Given the description of an element on the screen output the (x, y) to click on. 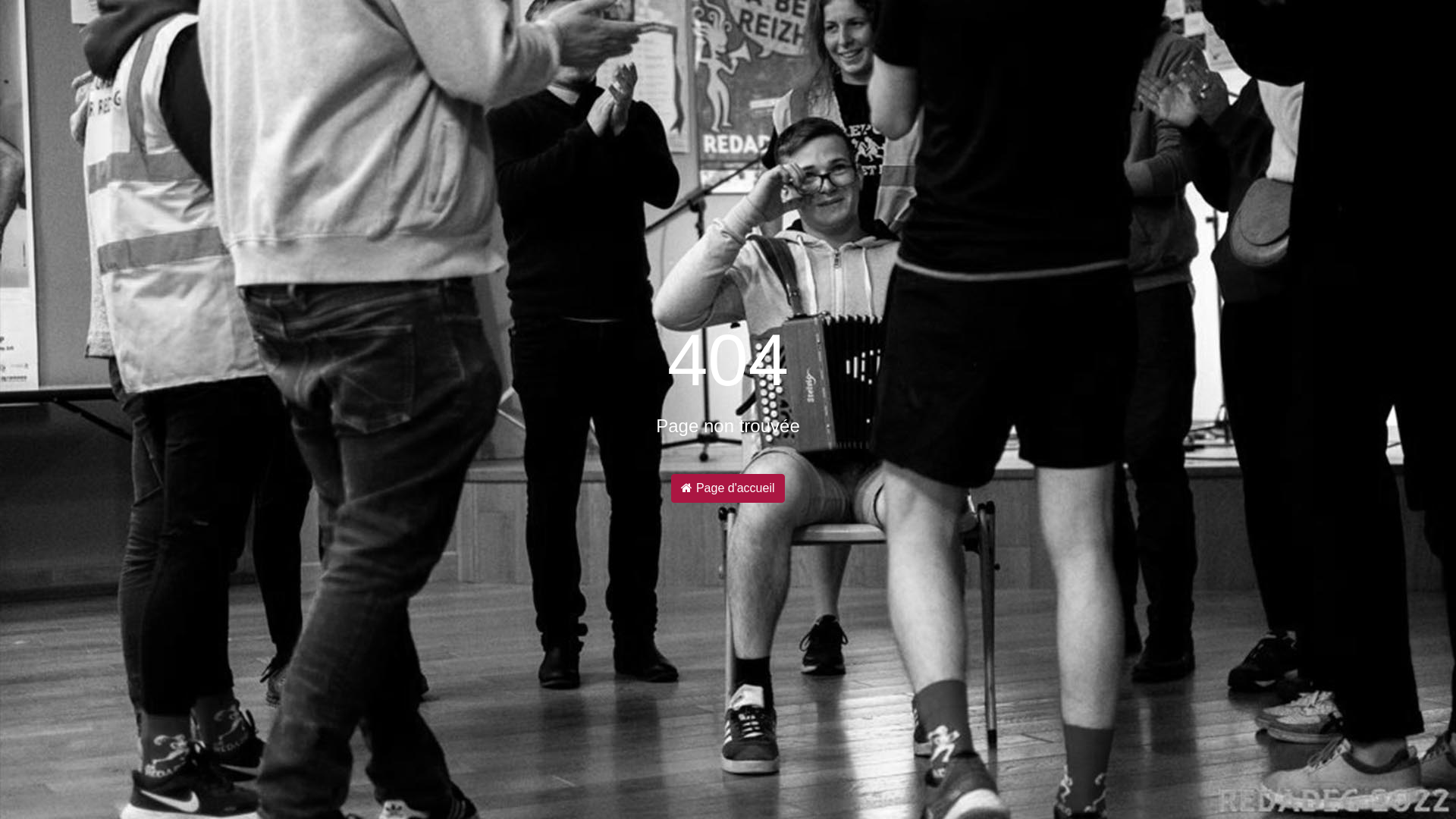
Page d'accueil Element type: text (727, 487)
